Given the description of an element on the screen output the (x, y) to click on. 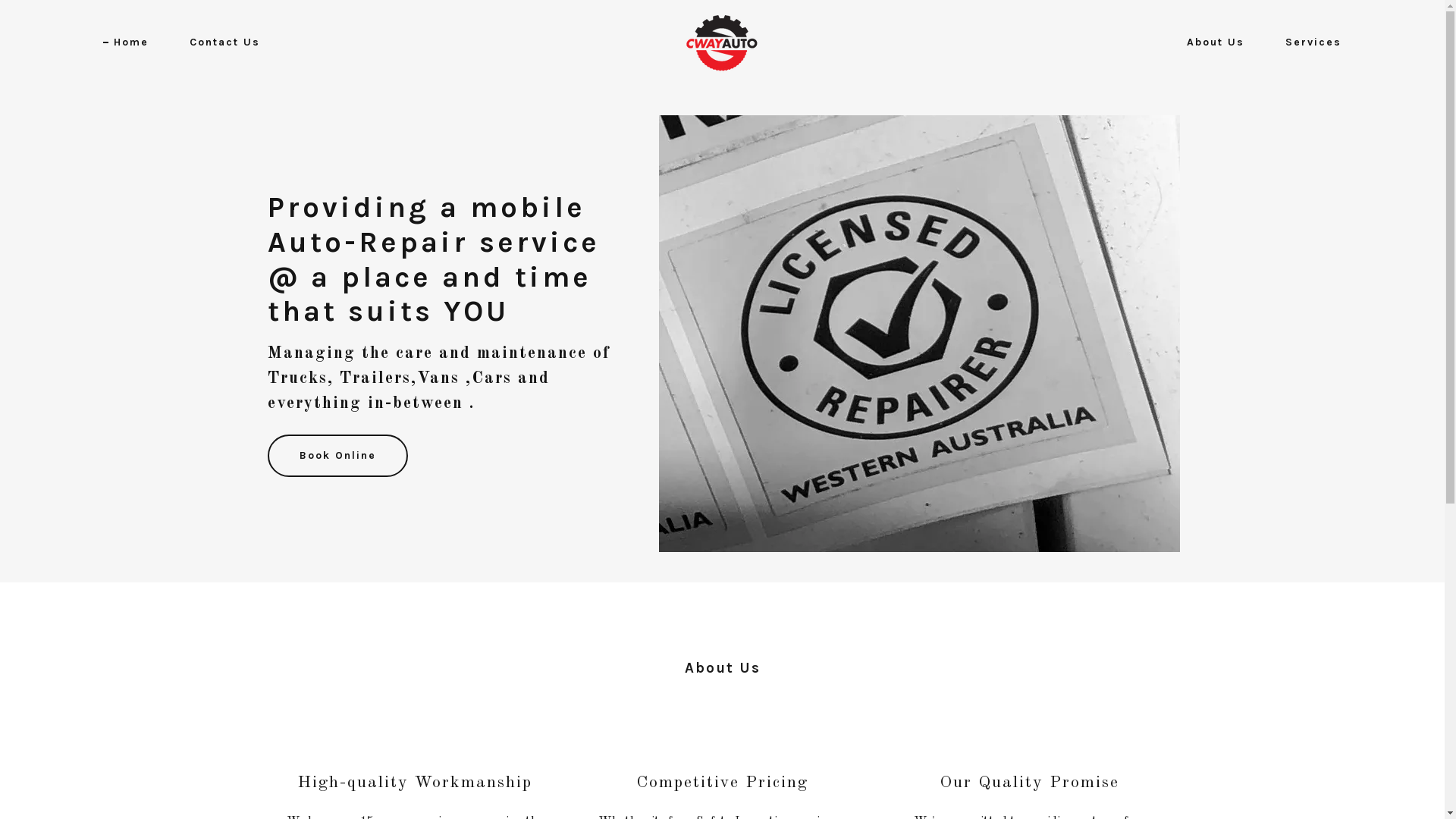
CWAY AUTO Element type: hover (721, 42)
Home Element type: text (125, 42)
Services Element type: text (1308, 42)
Book Online Element type: text (336, 455)
Contact Us Element type: text (219, 42)
About Us Element type: text (1209, 42)
